Given the description of an element on the screen output the (x, y) to click on. 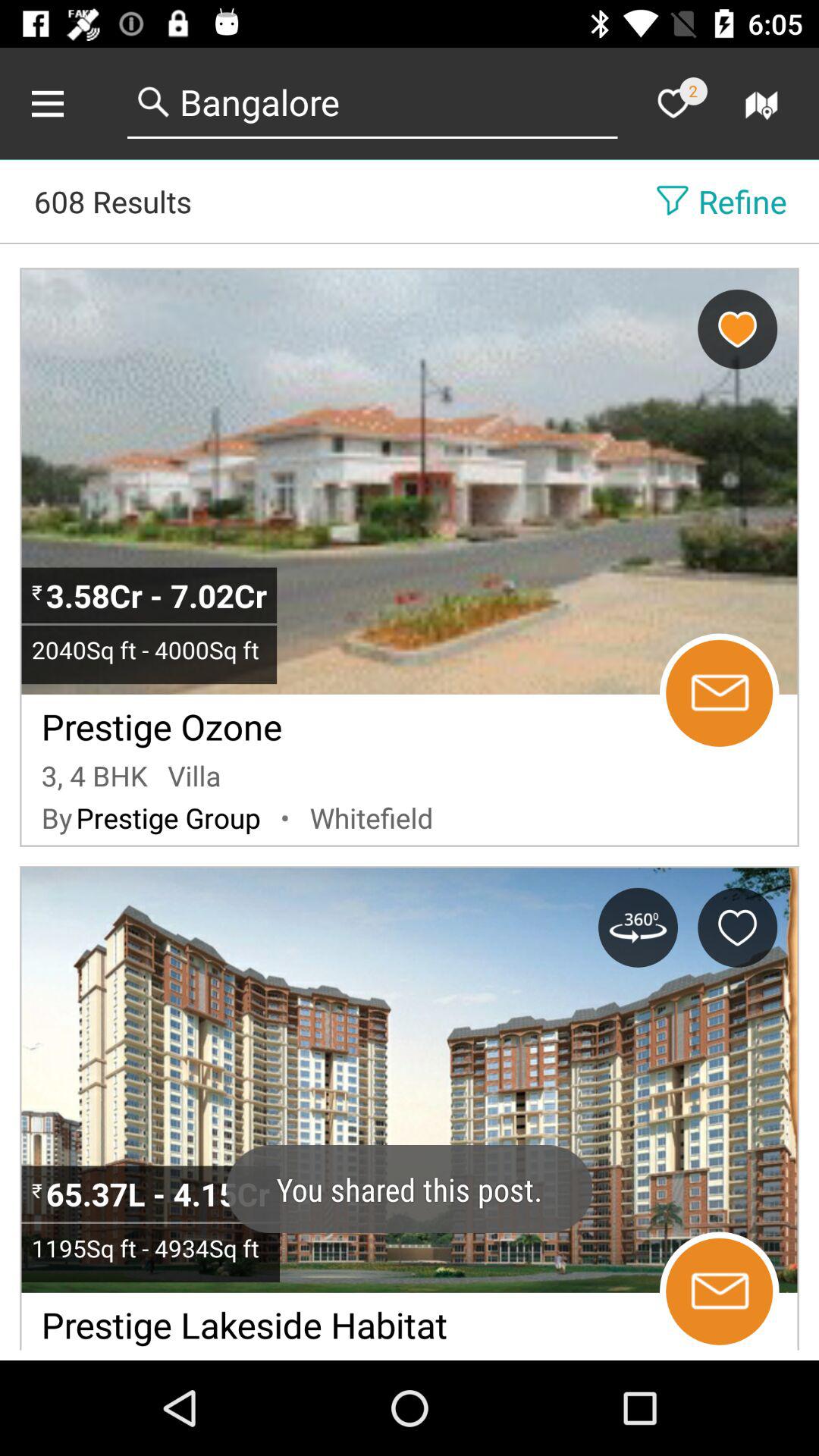
view in maps (764, 103)
